Given the description of an element on the screen output the (x, y) to click on. 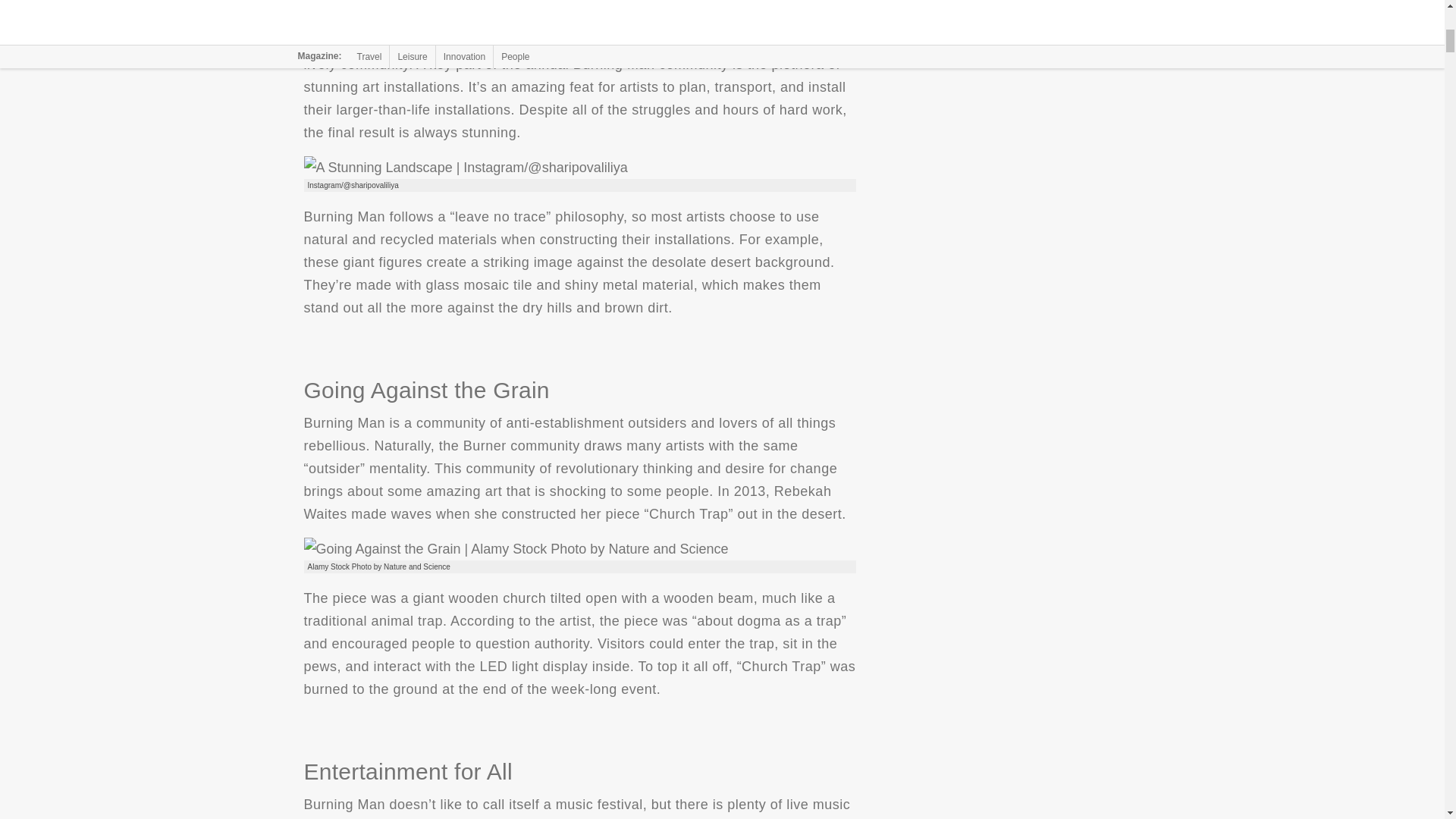
A Stunning Landscape (464, 167)
Going Against the Grain (515, 548)
